Given the description of an element on the screen output the (x, y) to click on. 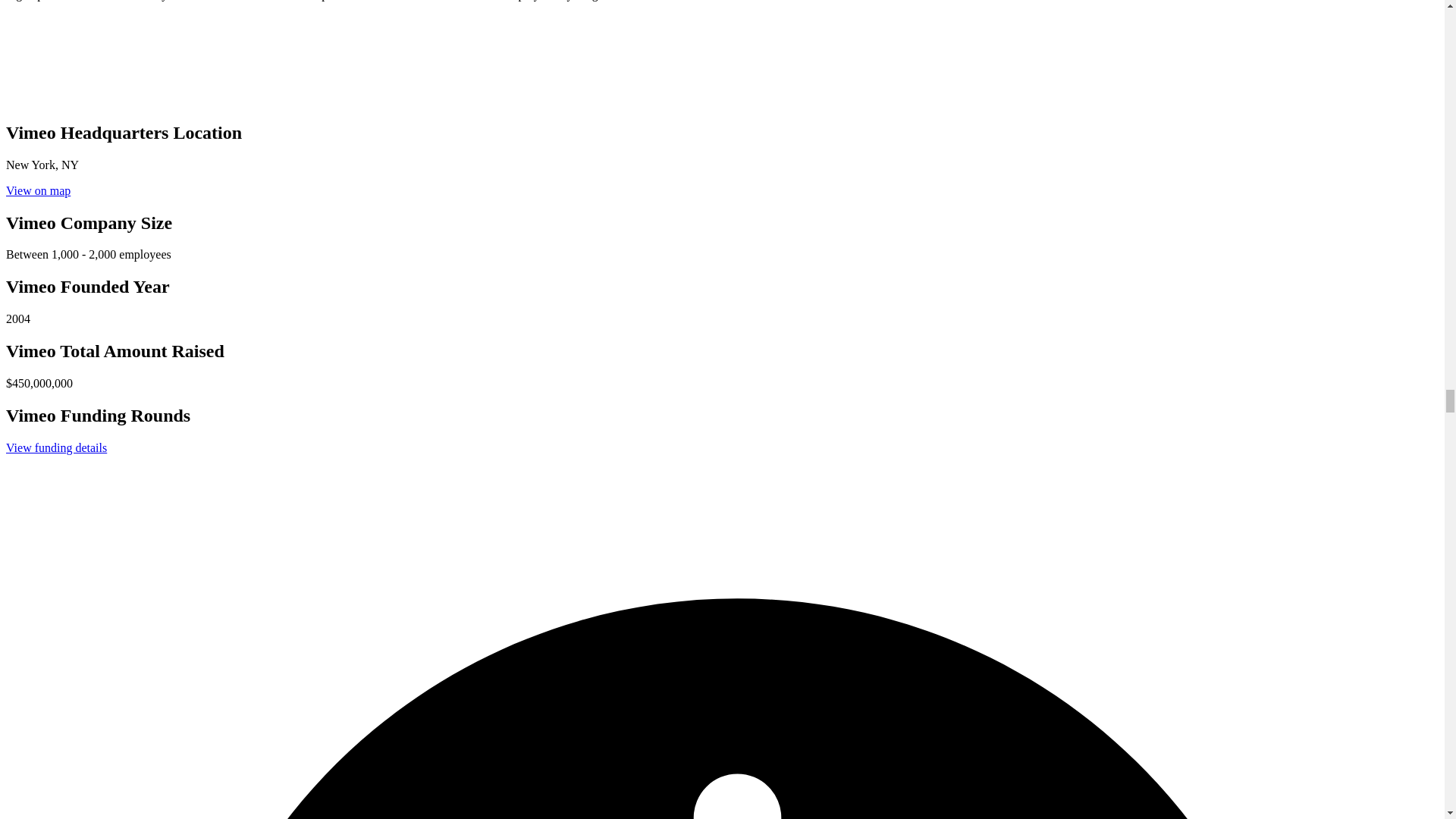
View on map (37, 190)
View funding details (55, 447)
